Given the description of an element on the screen output the (x, y) to click on. 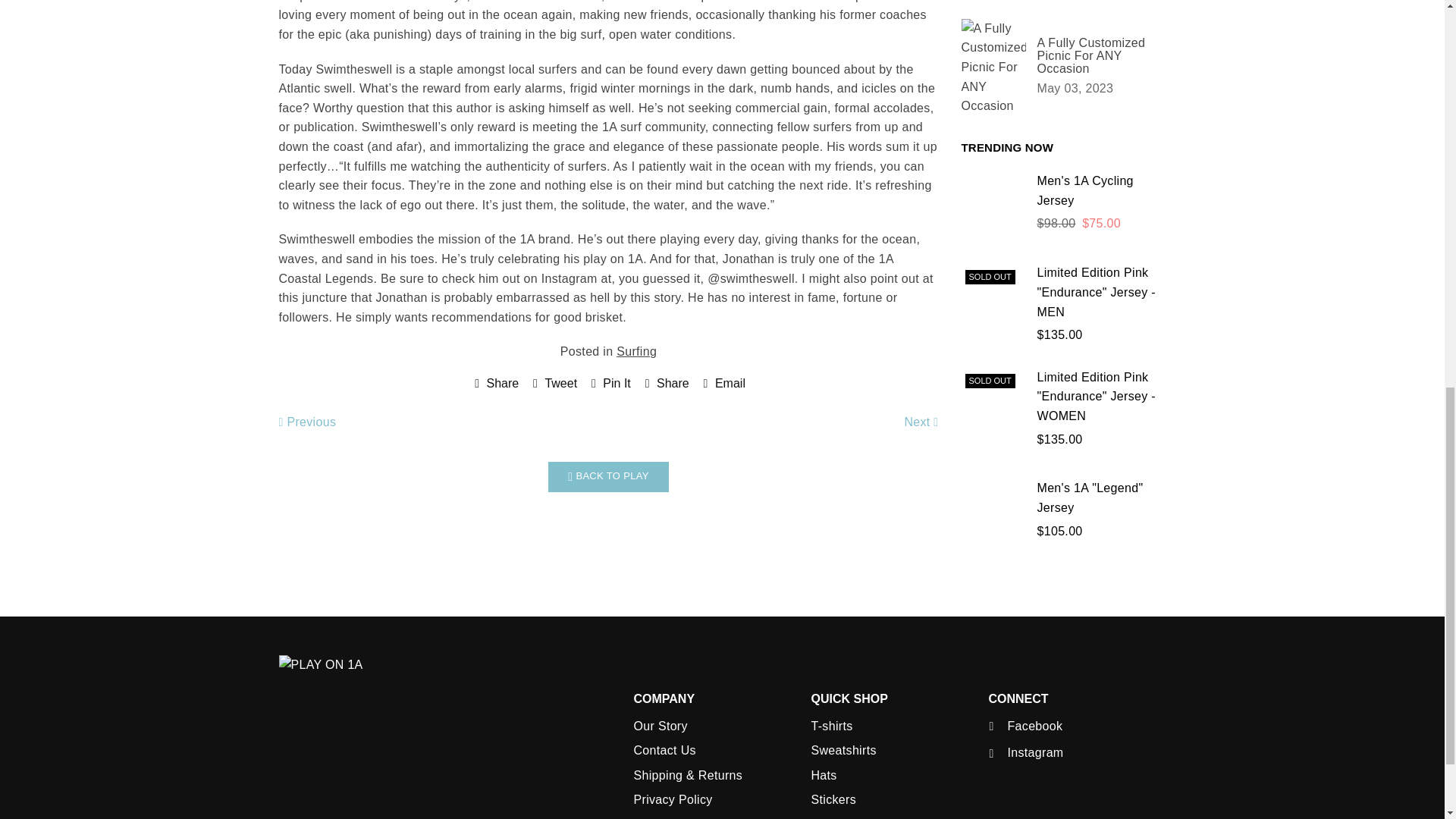
Pin on Pinterest (609, 383)
Share on Facebook (494, 383)
Share by Email (722, 383)
Share on Linked In (665, 383)
Tweet on Twitter (552, 383)
